Given the description of an element on the screen output the (x, y) to click on. 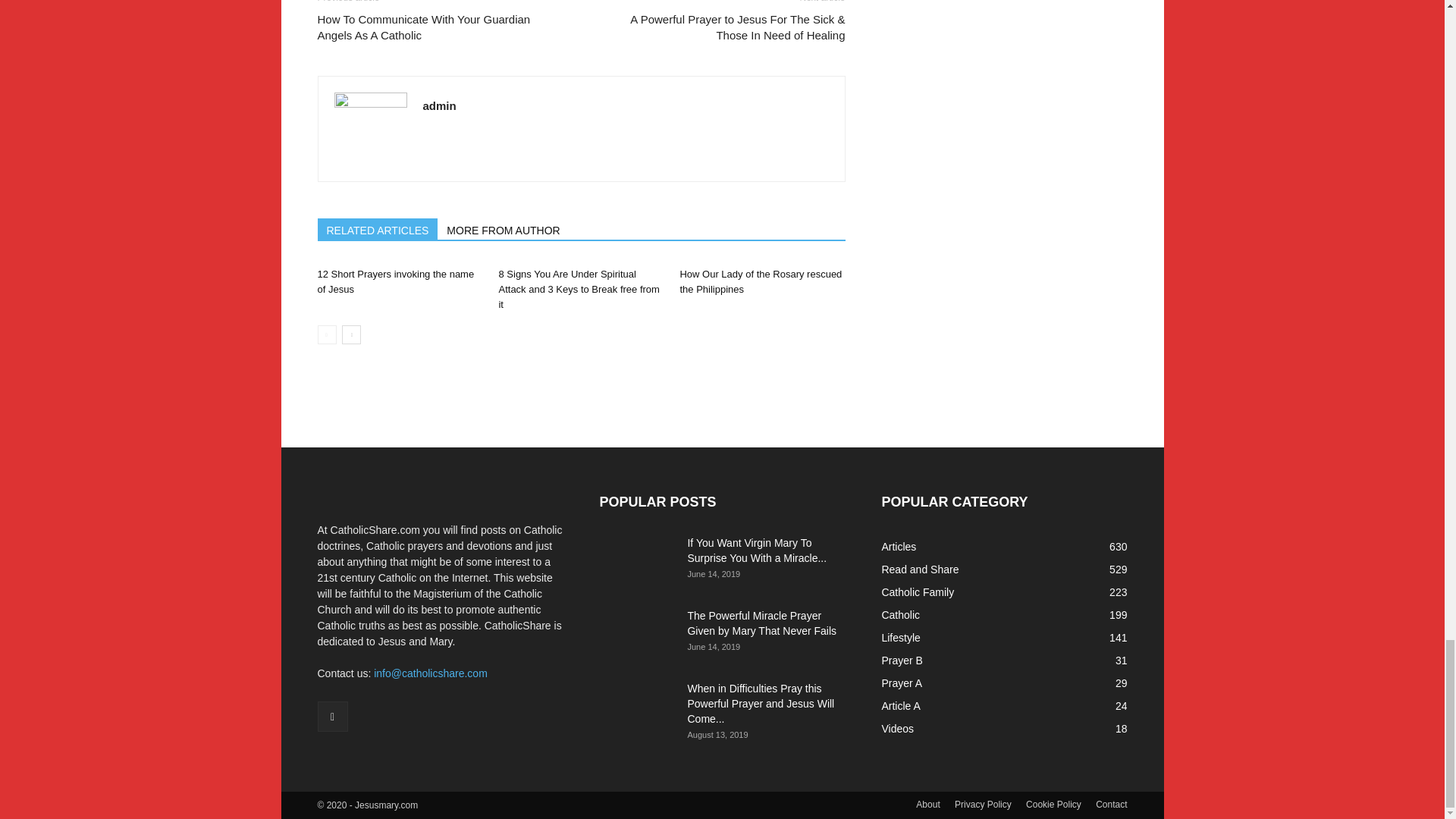
How Our Lady of the Rosary rescued the Philippines (760, 281)
12 Short Prayers invoking the name of Jesus (395, 281)
